Given the description of an element on the screen output the (x, y) to click on. 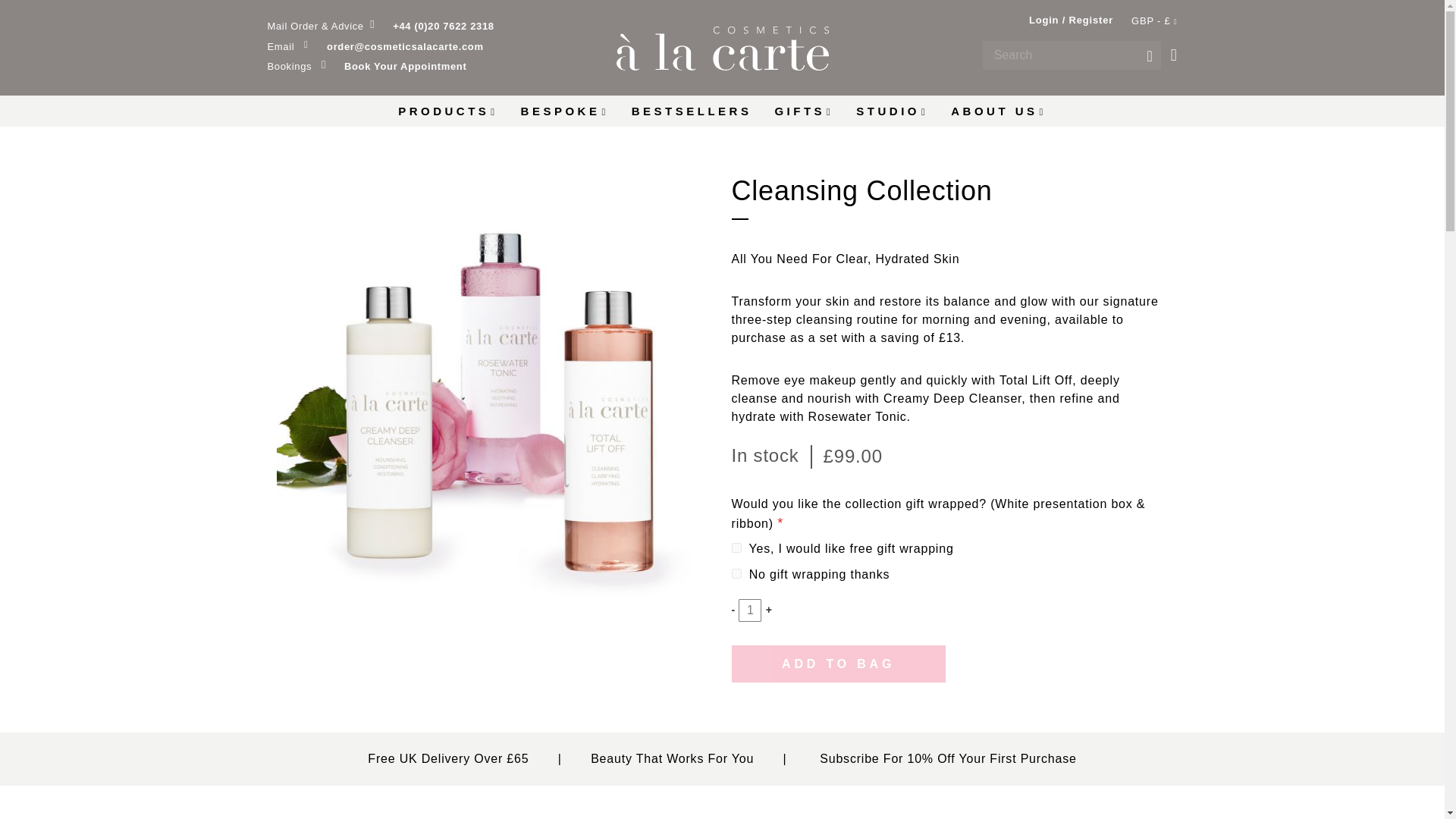
Add to Bag (837, 663)
1 (749, 609)
358 (735, 547)
PRODUCTS (447, 110)
Qty (749, 609)
359 (735, 573)
Availability (763, 455)
Book Your Appointment (393, 66)
